Given the description of an element on the screen output the (x, y) to click on. 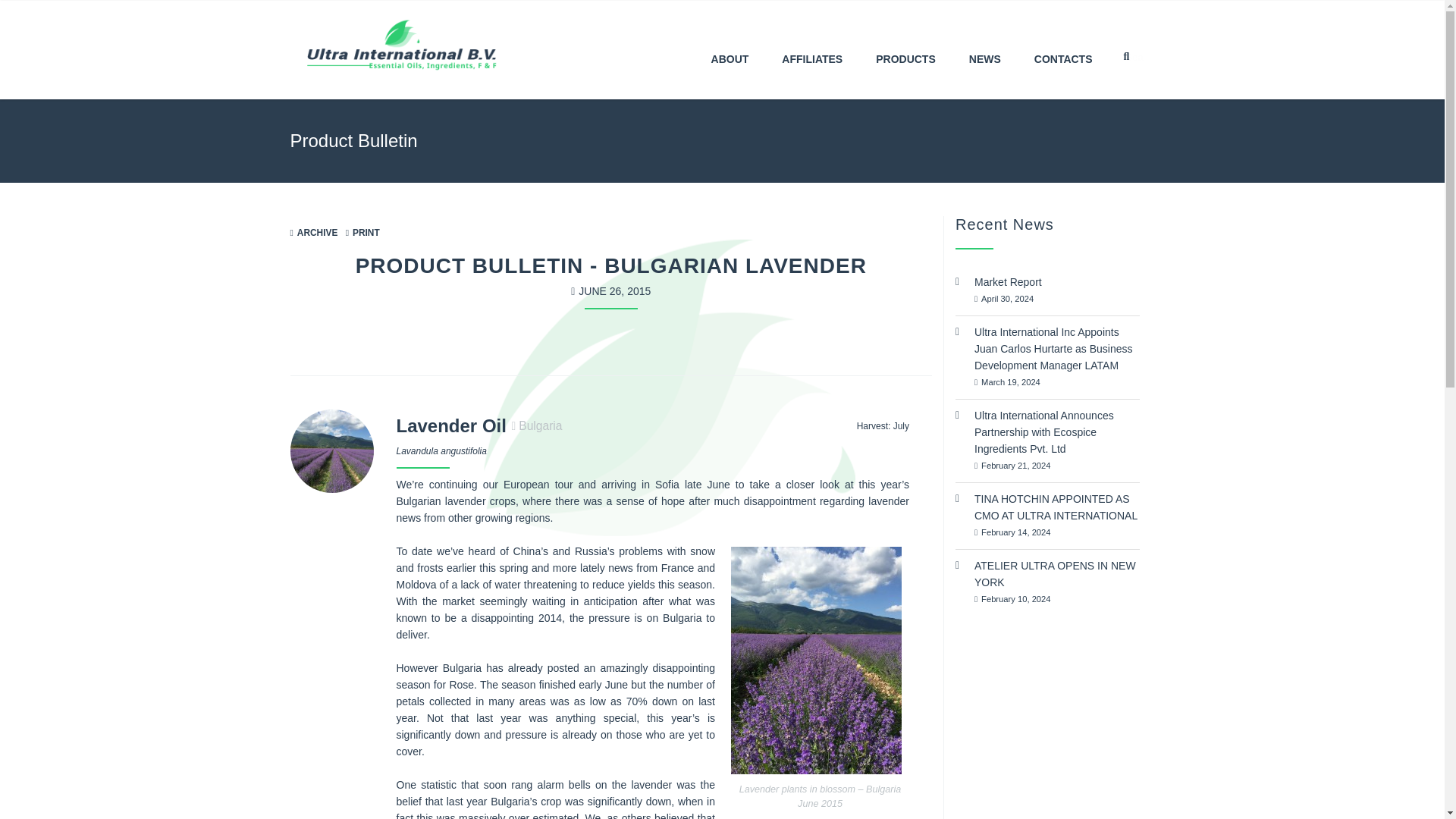
Lavender Oil (450, 425)
ARCHIVE (313, 232)
CONTACTS (1063, 49)
PRINT (363, 232)
Ultra International B.V. (400, 45)
PRODUCTS (1047, 582)
AFFILIATES (905, 49)
